Given the description of an element on the screen output the (x, y) to click on. 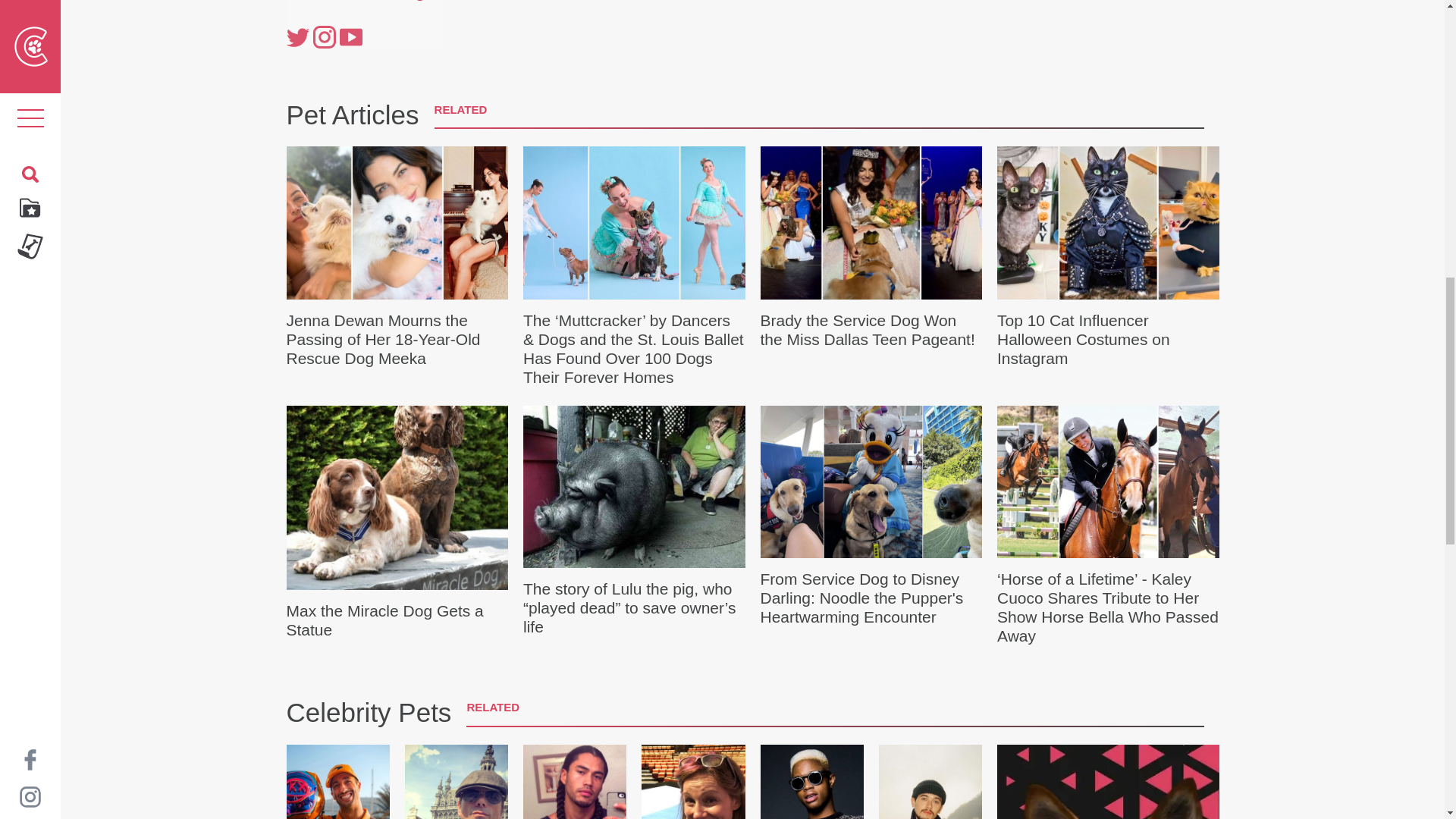
Ron Killings' Twitter (297, 35)
Ron Killings' Instagram (323, 35)
Ron Killings' YouTube Channel (350, 35)
